Given the description of an element on the screen output the (x, y) to click on. 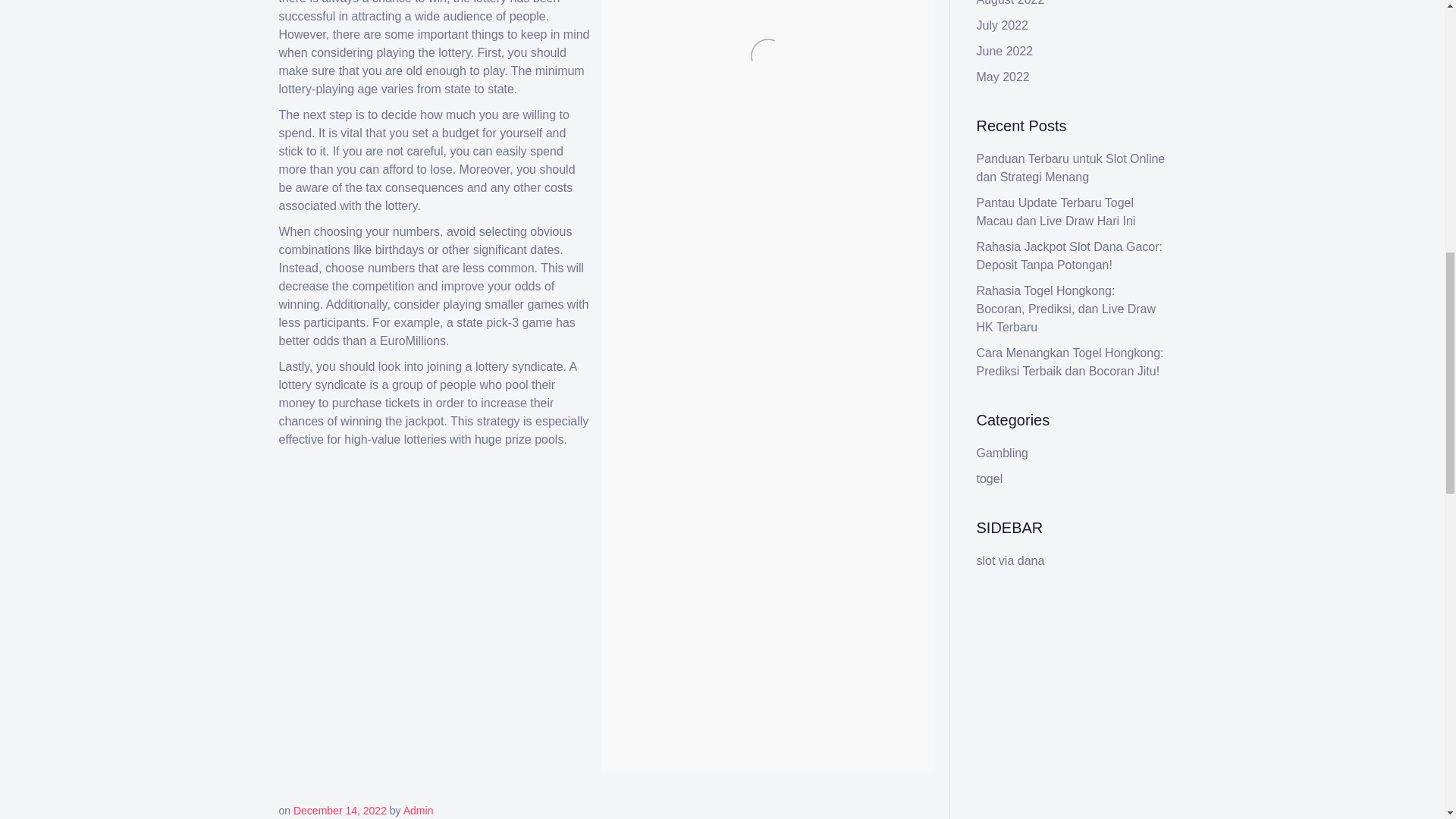
August 2022 (1010, 2)
Admin (418, 810)
December 14, 2022 (340, 810)
